Given the description of an element on the screen output the (x, y) to click on. 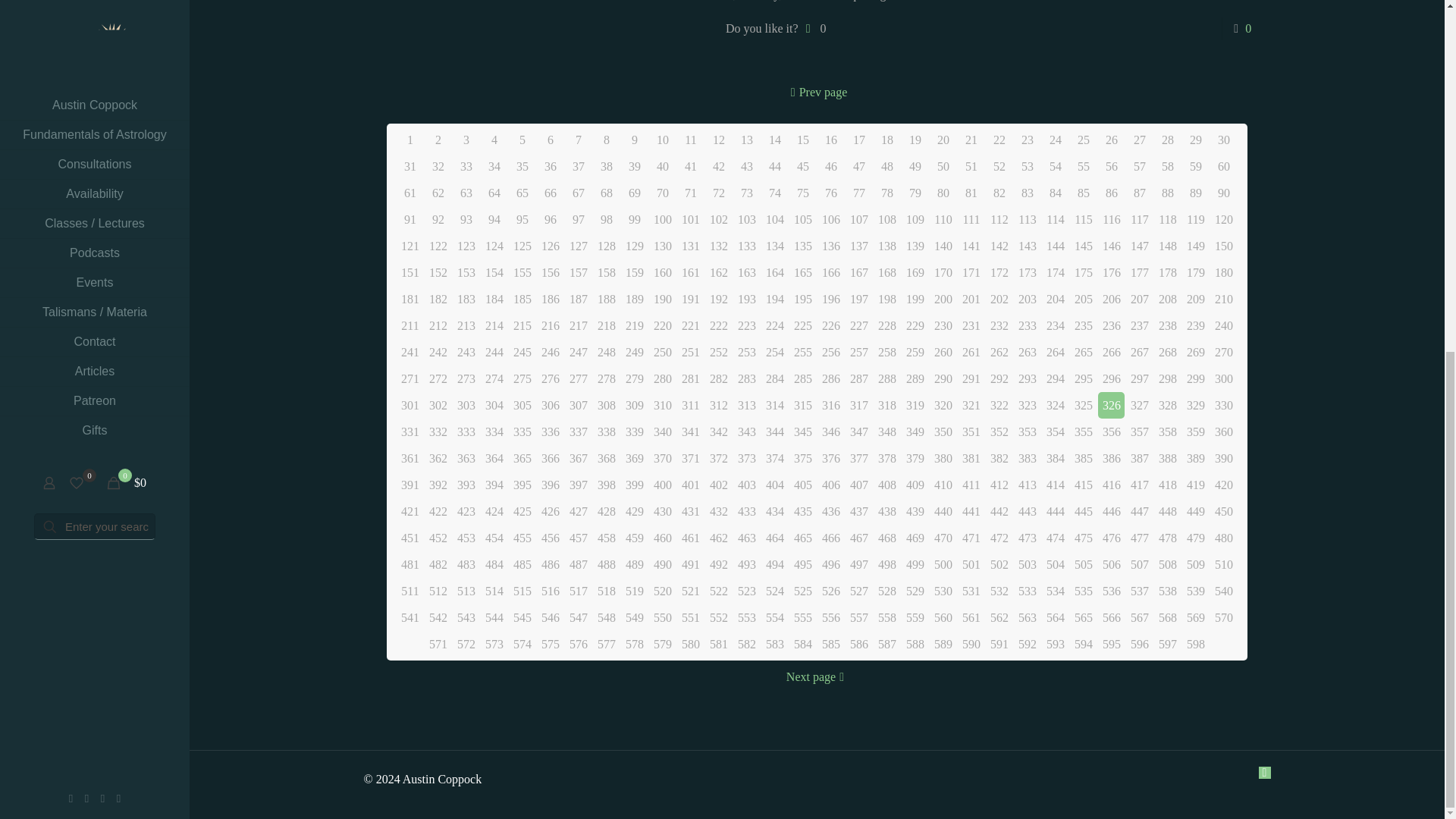
Facebook (71, 186)
YouTube (102, 186)
Instagram (118, 186)
